Given the description of an element on the screen output the (x, y) to click on. 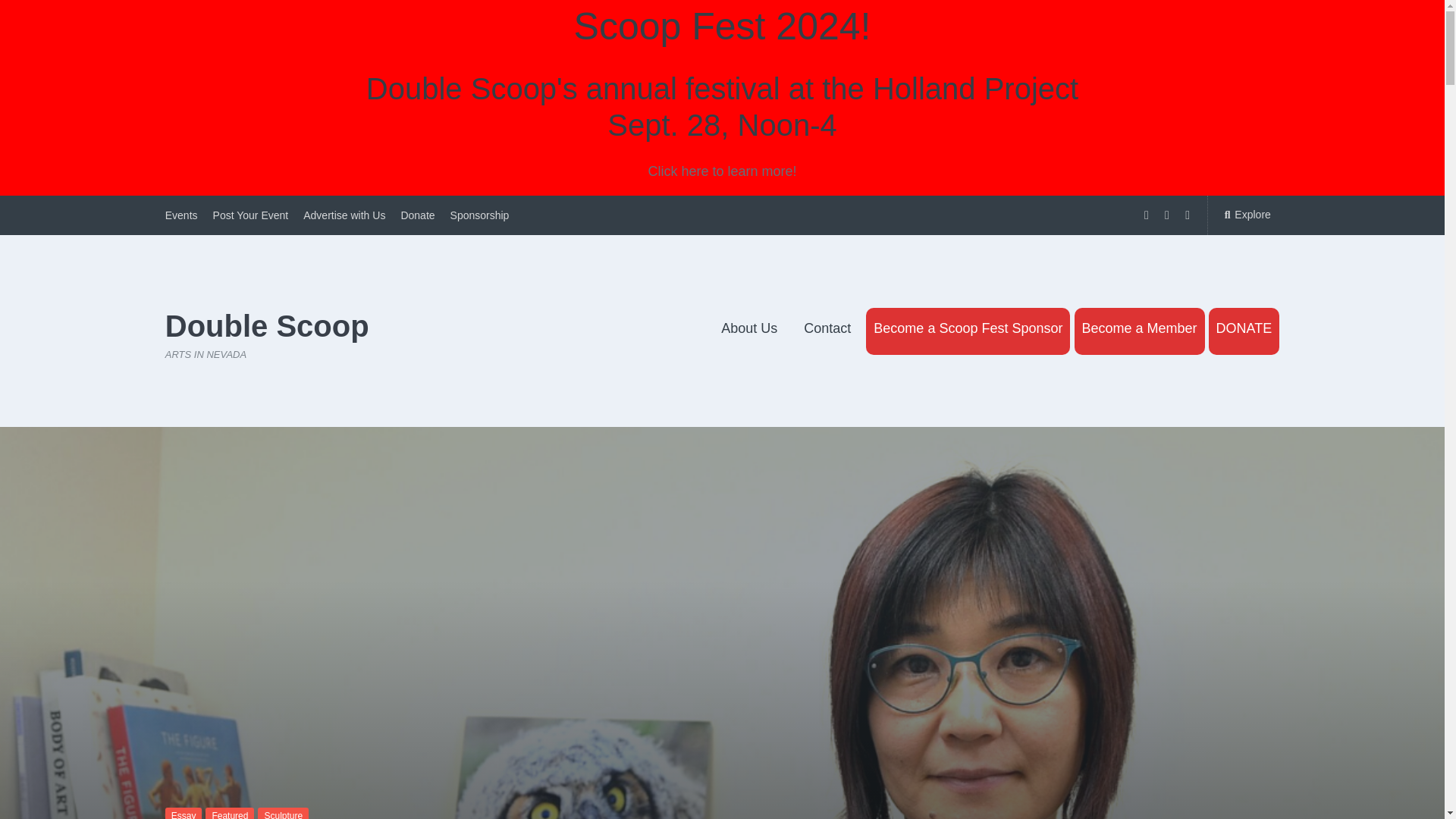
Post Your Event (250, 215)
Sponsorship (479, 215)
Advertise with Us (343, 215)
Click here to learn more! (721, 171)
